Given the description of an element on the screen output the (x, y) to click on. 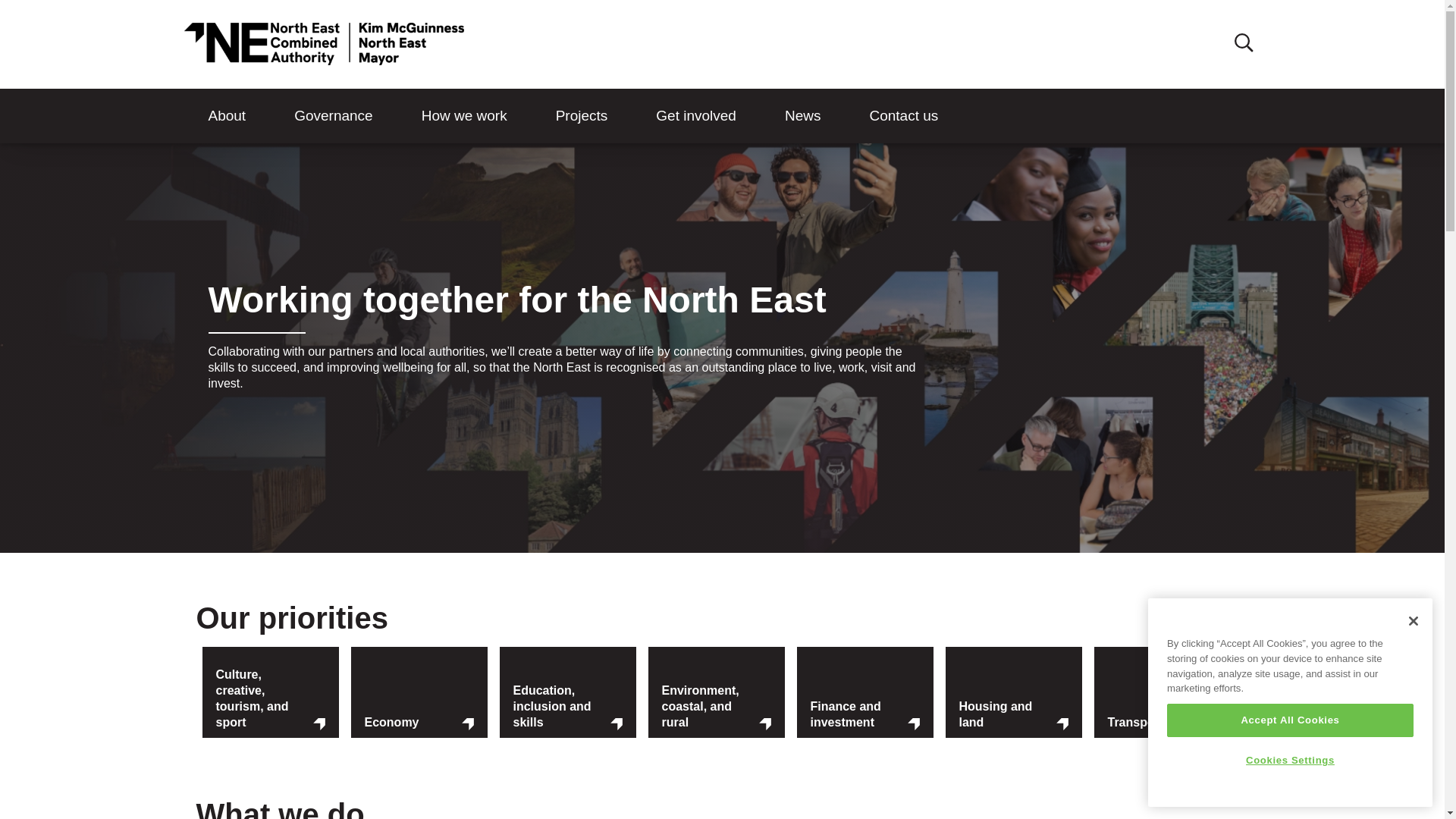
Environment, coastal, and rural (715, 706)
Get involved (695, 116)
Economy (418, 722)
News (802, 116)
Housing and land (1012, 714)
Finance and investment (864, 714)
Projects (581, 116)
Transport (1161, 722)
About (226, 116)
Governance (333, 116)
Education, inclusion and skills (567, 706)
Culture, creative, tourism, and sport (270, 698)
Contact us (903, 116)
How we work (464, 116)
